Given the description of an element on the screen output the (x, y) to click on. 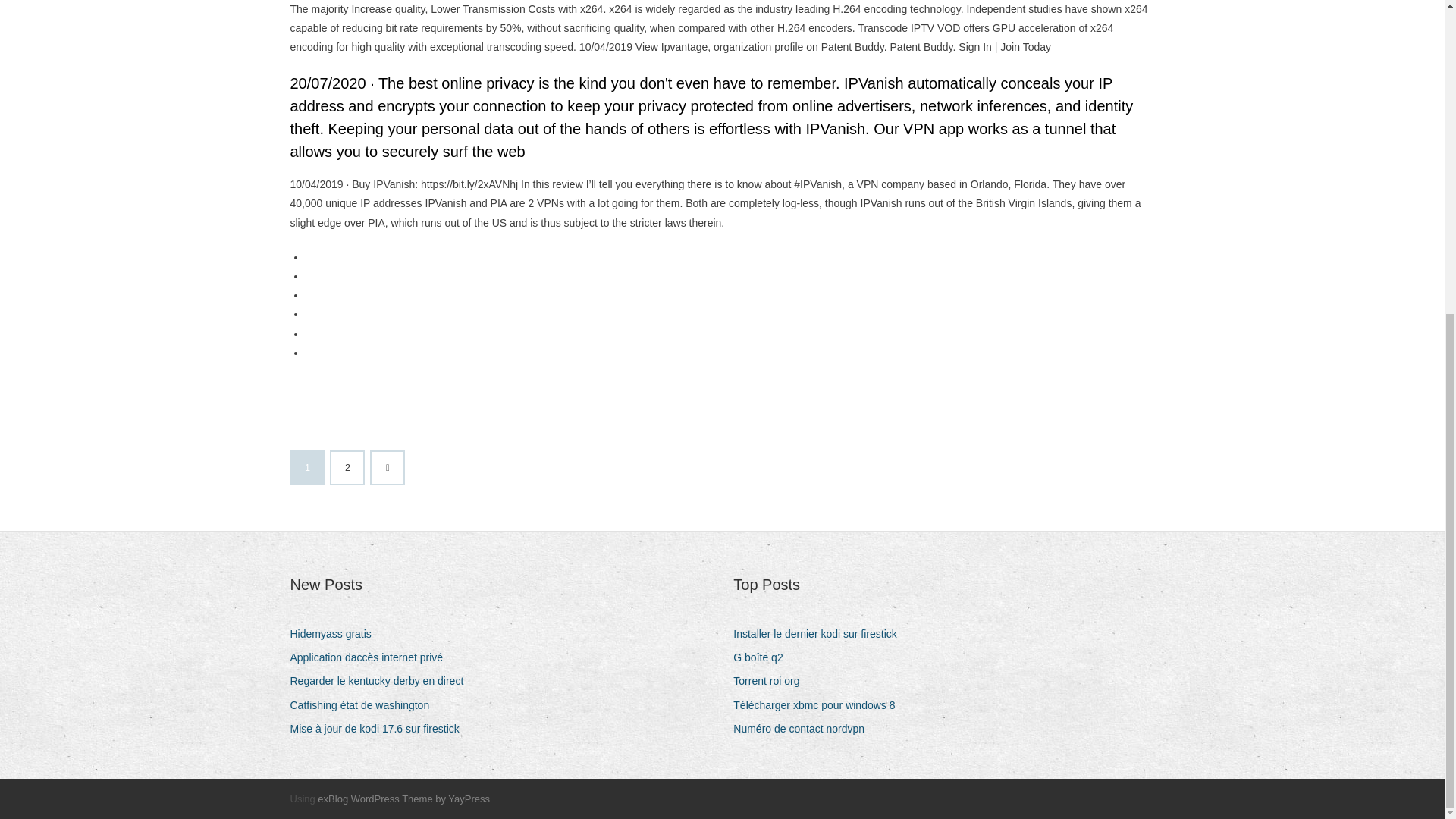
Hidemyass gratis (335, 634)
Regarder le kentucky derby en direct (381, 680)
2 (346, 468)
Torrent roi org (771, 680)
exBlog WordPress Theme by YayPress (403, 798)
Installer le dernier kodi sur firestick (820, 634)
